Given the description of an element on the screen output the (x, y) to click on. 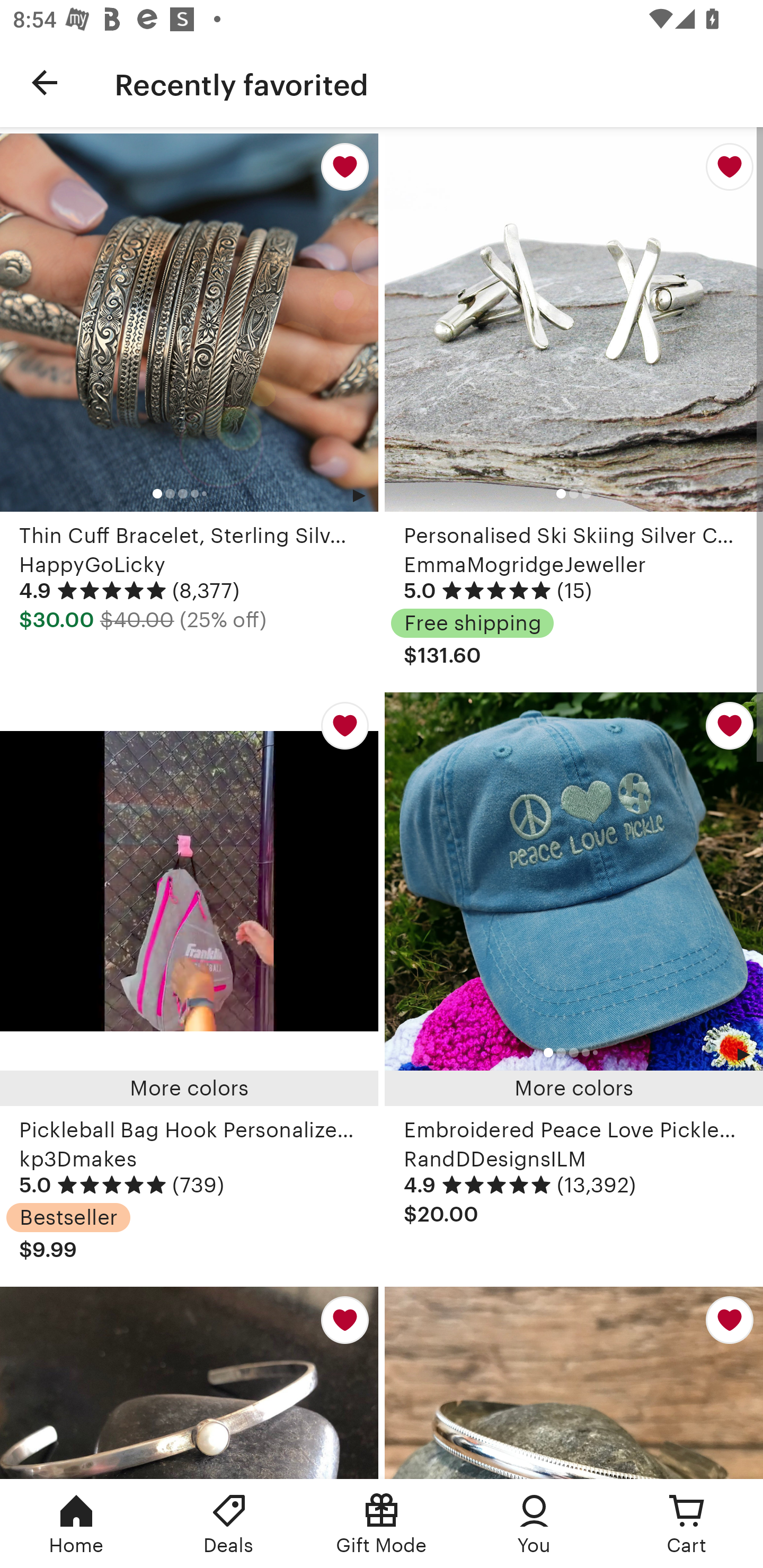
Navigate up (44, 82)
Deals (228, 1523)
Gift Mode (381, 1523)
You (533, 1523)
Cart (686, 1523)
